Given the description of an element on the screen output the (x, y) to click on. 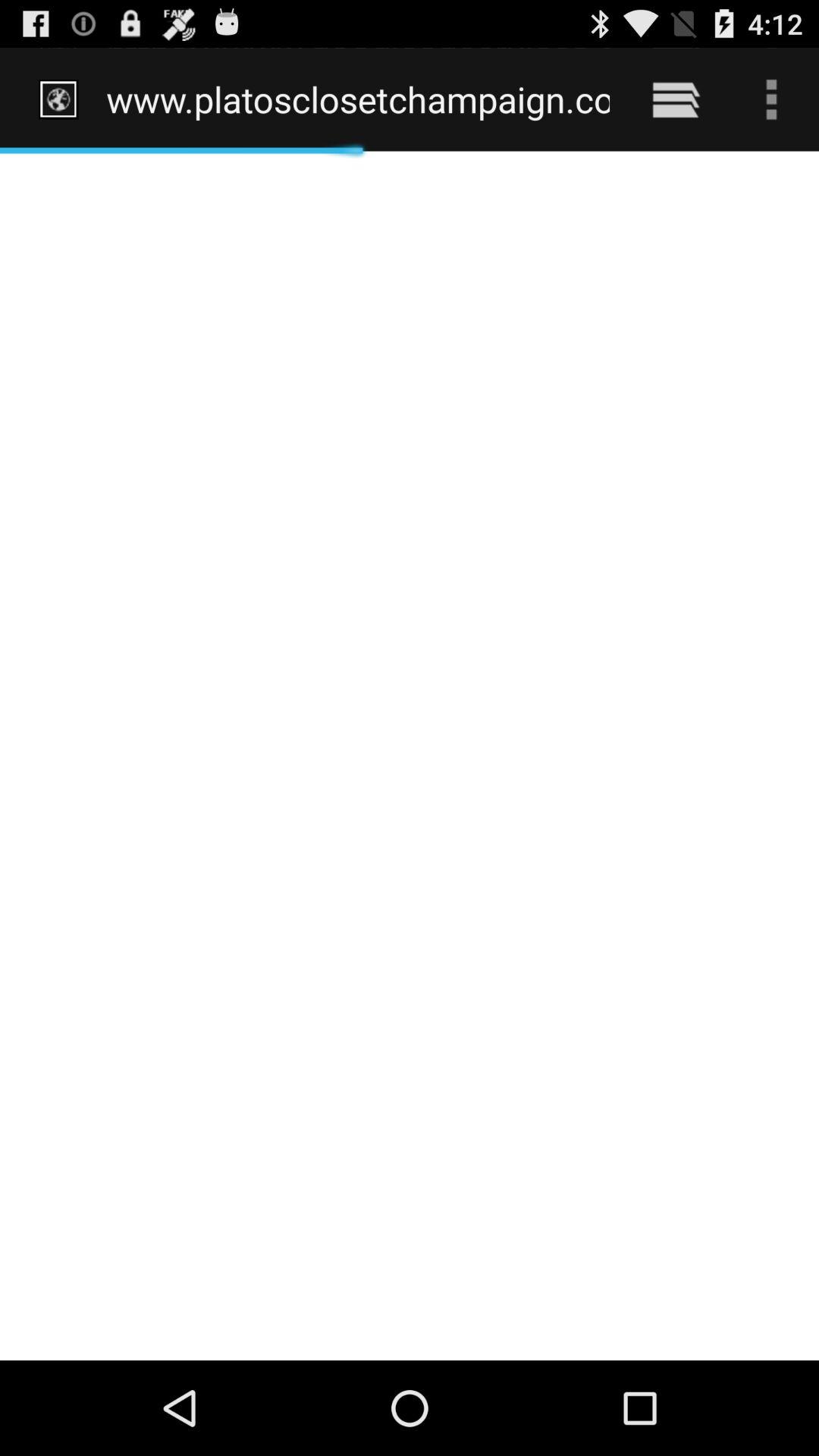
press icon next to www.platosclosetchampaign.com (675, 99)
